Given the description of an element on the screen output the (x, y) to click on. 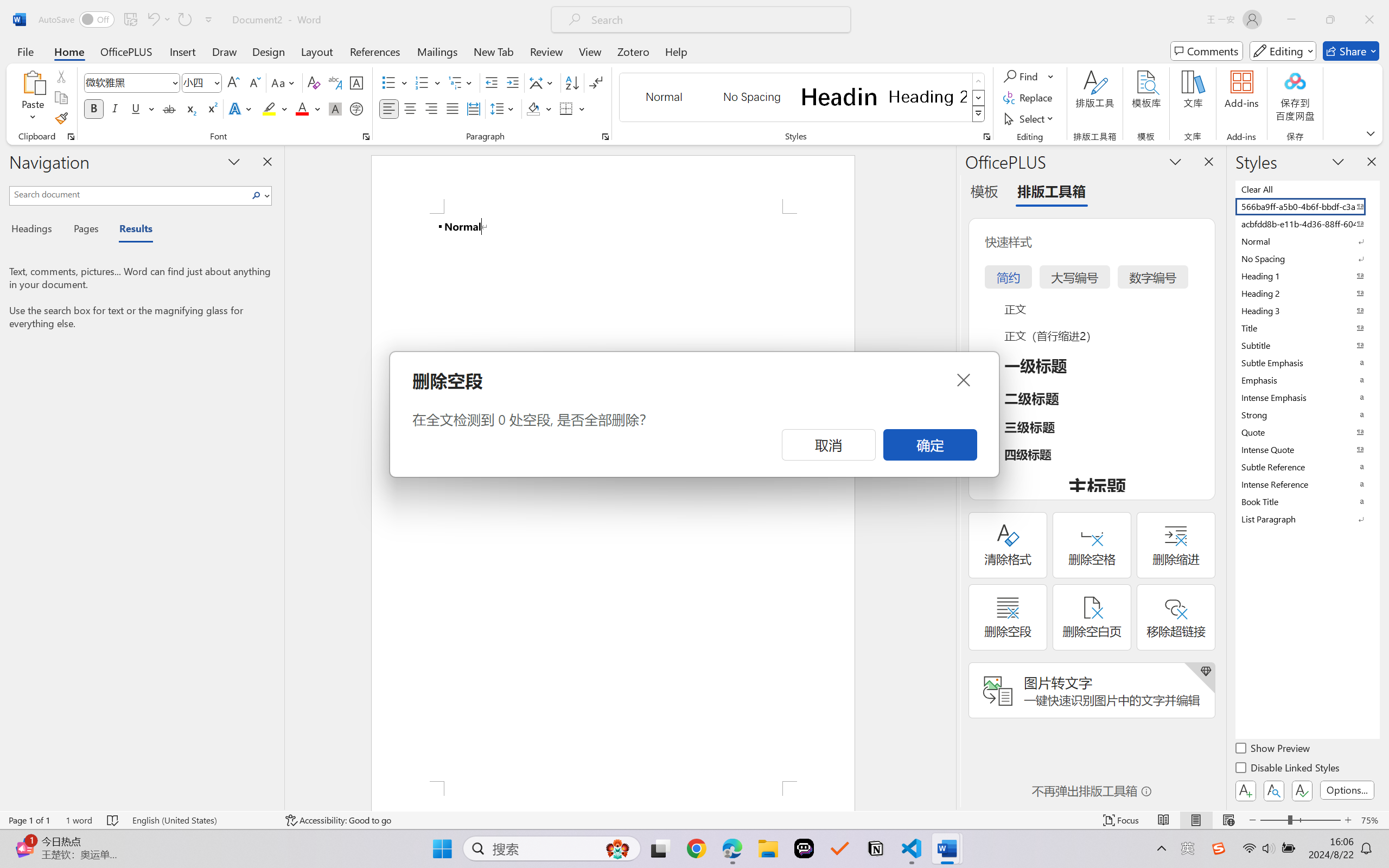
Bullets (395, 82)
Normal (1306, 240)
Insert (182, 51)
View (589, 51)
Find (1022, 75)
Align Right (431, 108)
Shading (539, 108)
Replace... (1029, 97)
Read Mode (1163, 819)
